Given the description of an element on the screen output the (x, y) to click on. 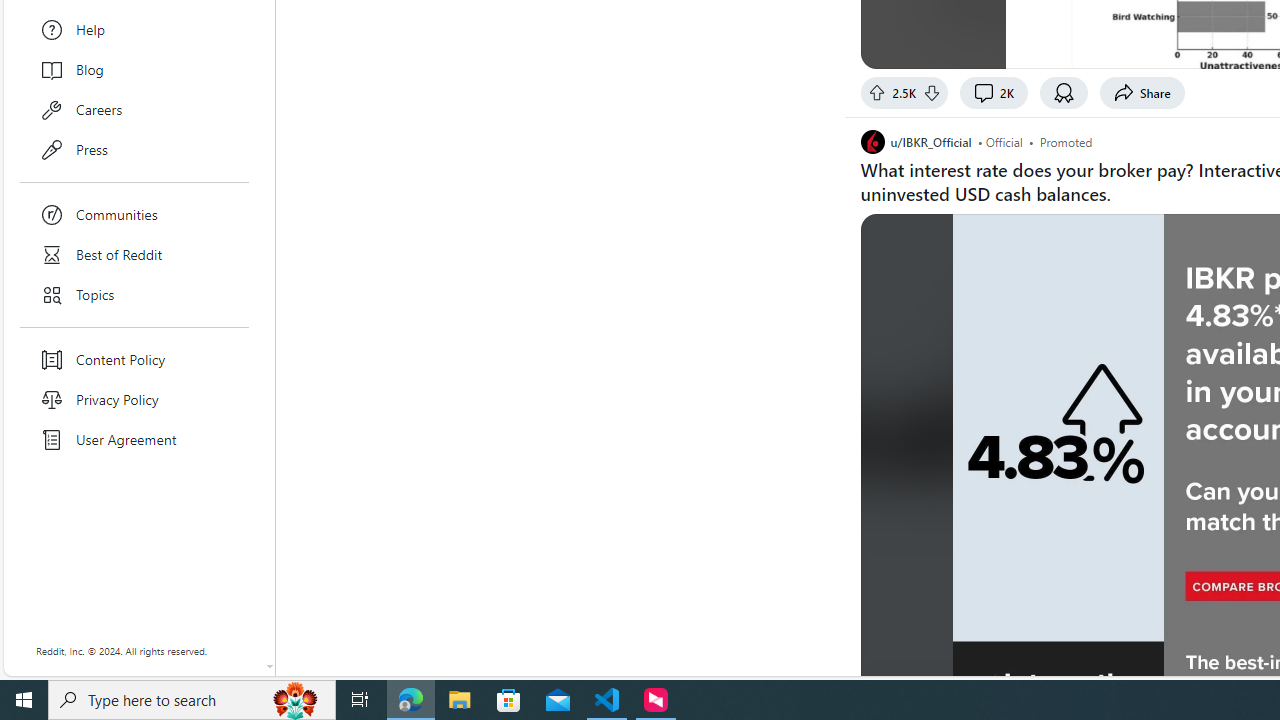
Privacy Policy (134, 399)
Blog (134, 69)
Content Policy (134, 359)
